Given the description of an element on the screen output the (x, y) to click on. 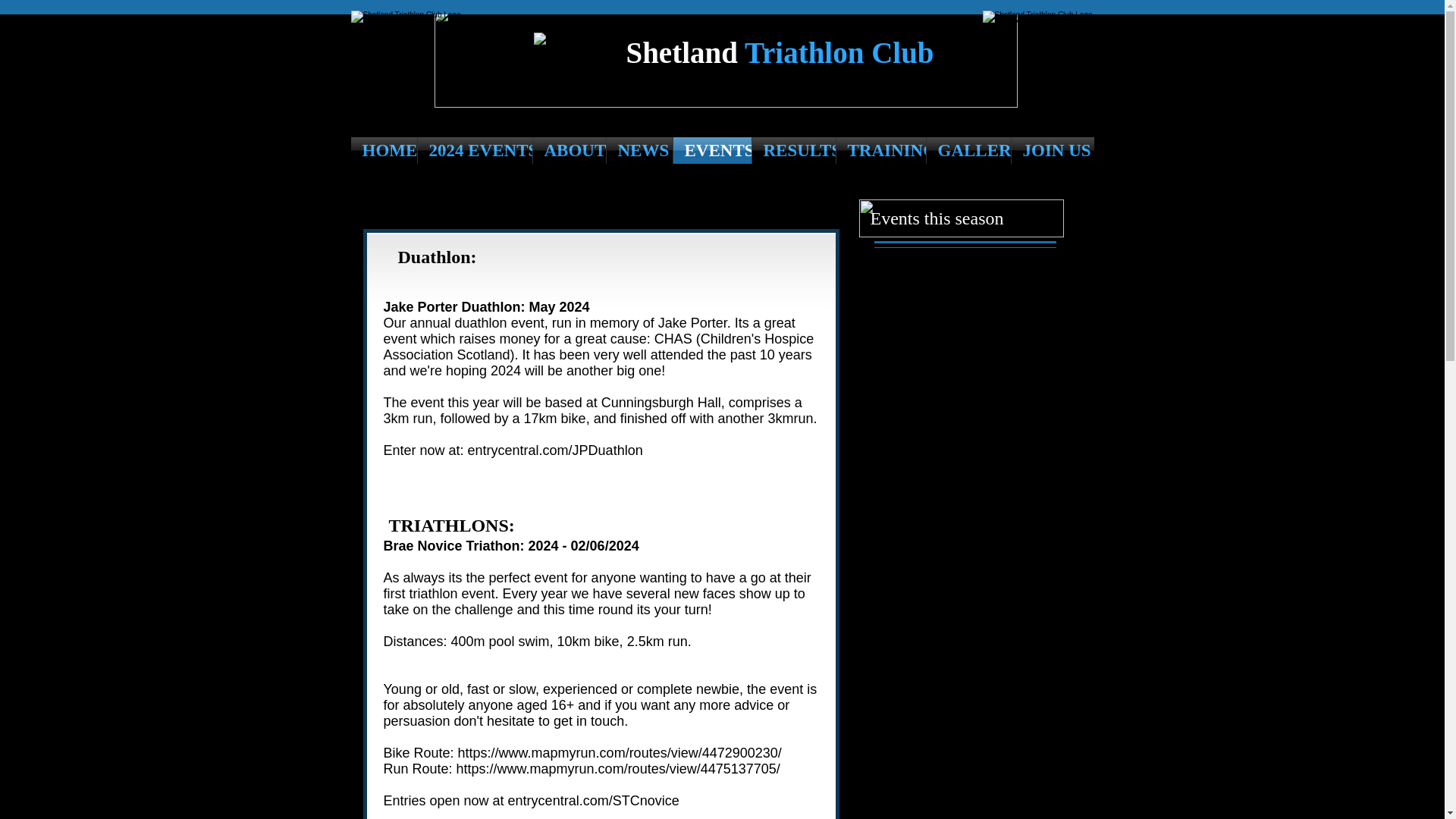
GALLERY (968, 150)
EVENTS (711, 150)
JOIN US (1052, 150)
HOME (383, 150)
2024 EVENTS (473, 150)
RESULTS (793, 150)
NEWS (639, 150)
TRAINING (879, 150)
ABOUT (568, 150)
